Given the description of an element on the screen output the (x, y) to click on. 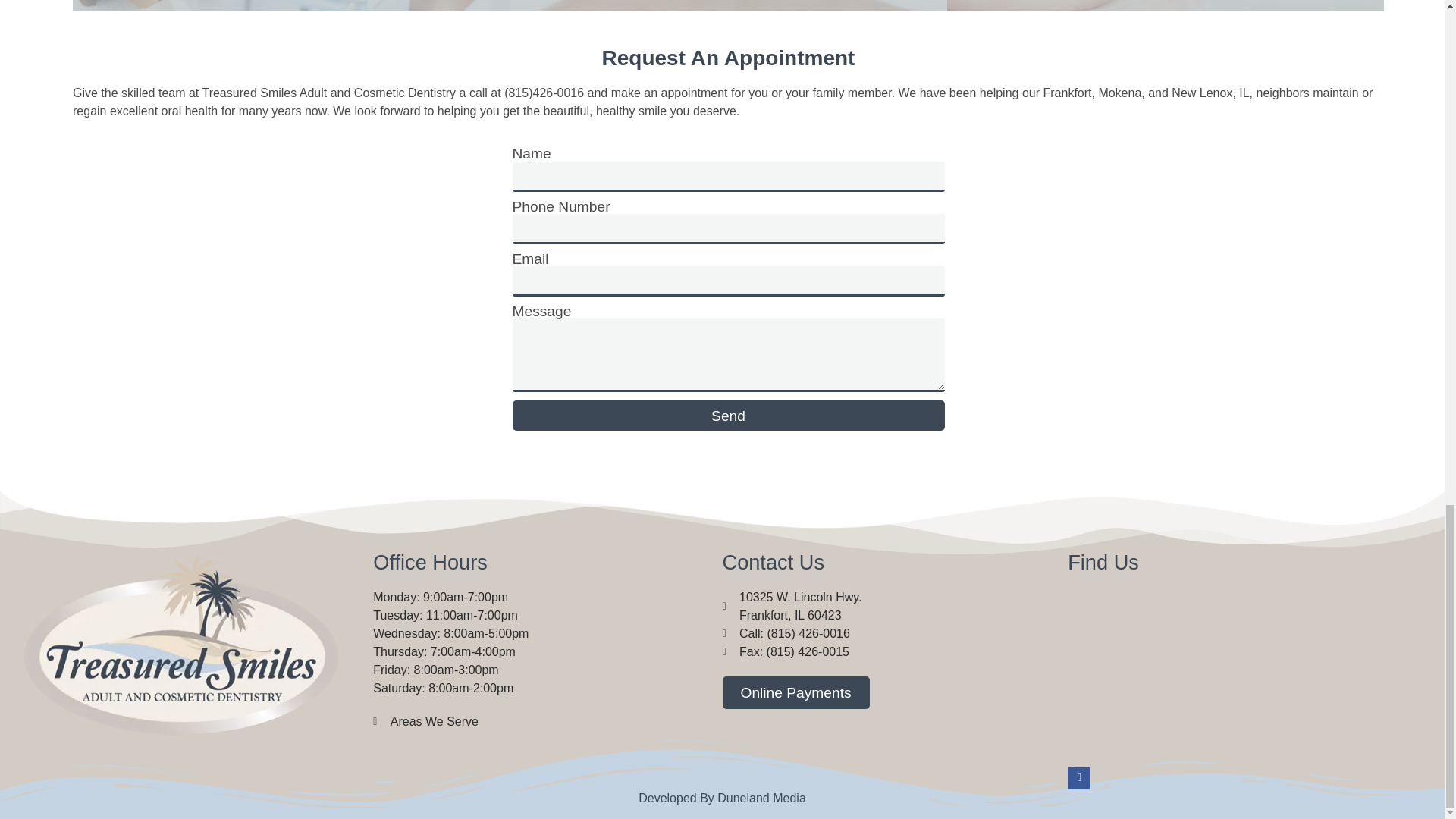
Treasured Smiles, 10325 W. Lincoln Hwy. Frankfort, IL 60423 (1241, 669)
